Given the description of an element on the screen output the (x, y) to click on. 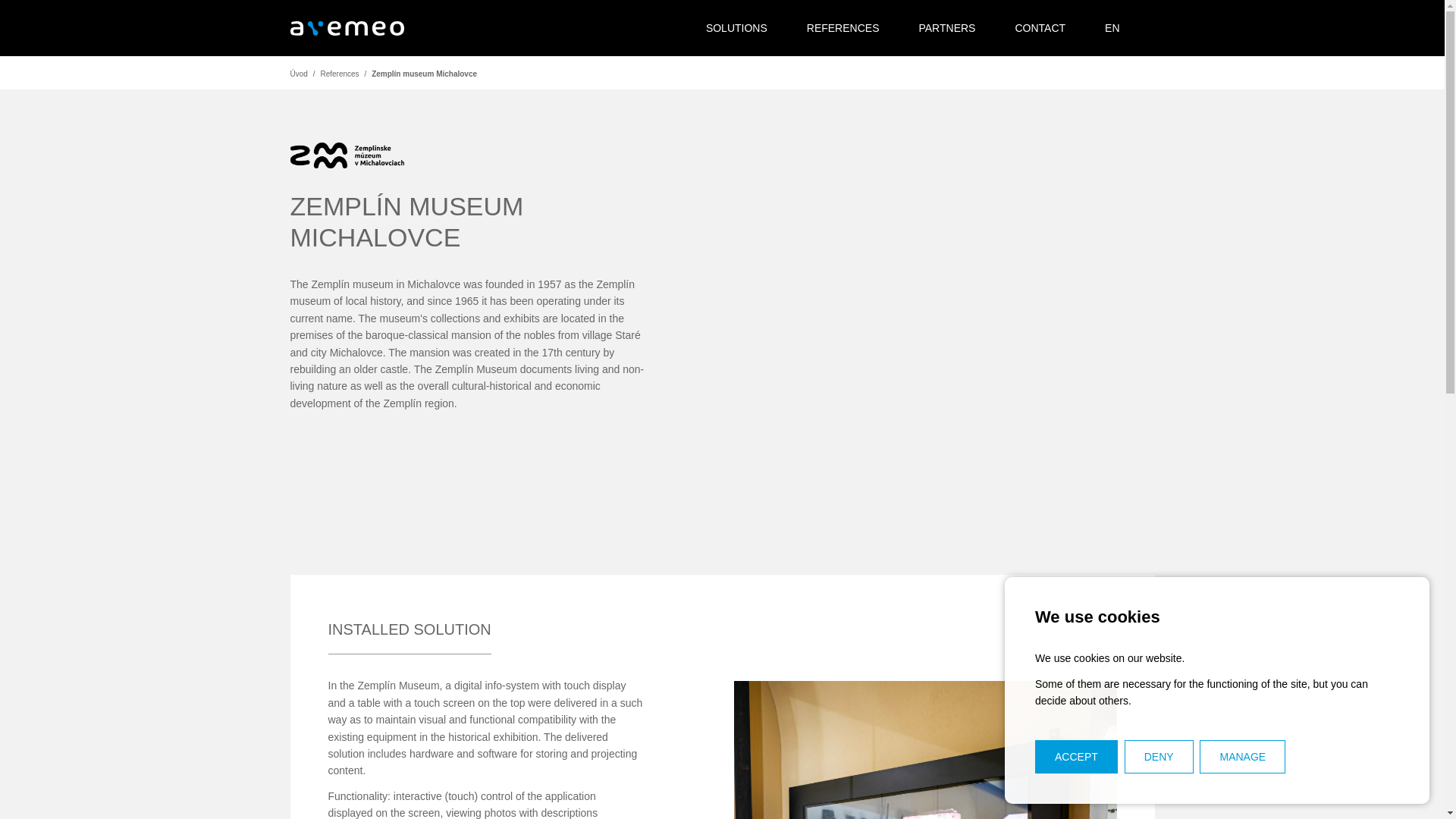
SOLUTIONS (736, 28)
PARTNERS (946, 28)
Digital info-system with touch display (924, 749)
DENY (1158, 756)
REFERENCES (843, 28)
References (339, 73)
ACCEPT (1076, 756)
MANAGE (1242, 756)
CONTACT (1039, 28)
